Given the description of an element on the screen output the (x, y) to click on. 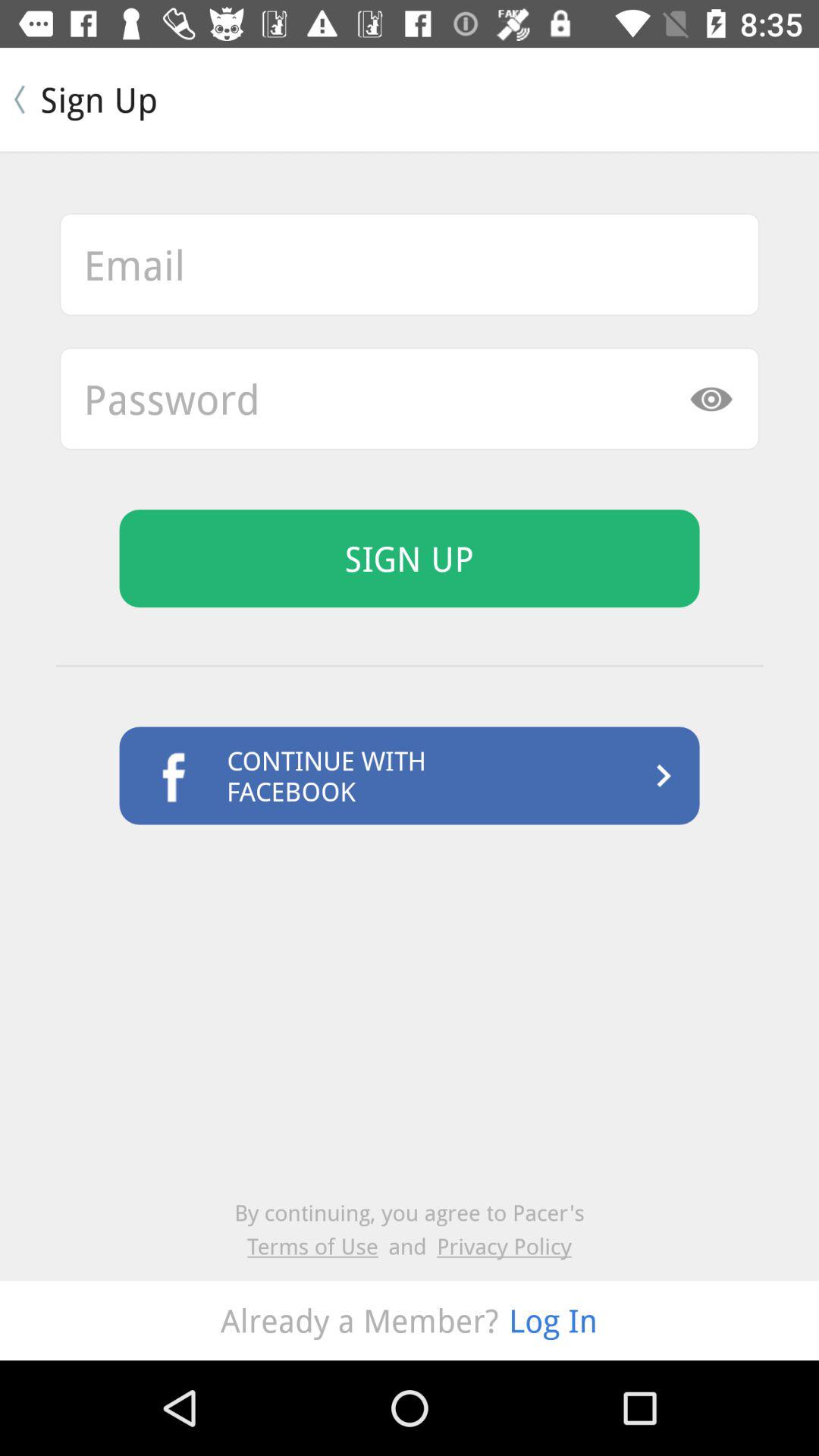
turn off the icon above the sign up item (409, 398)
